Given the description of an element on the screen output the (x, y) to click on. 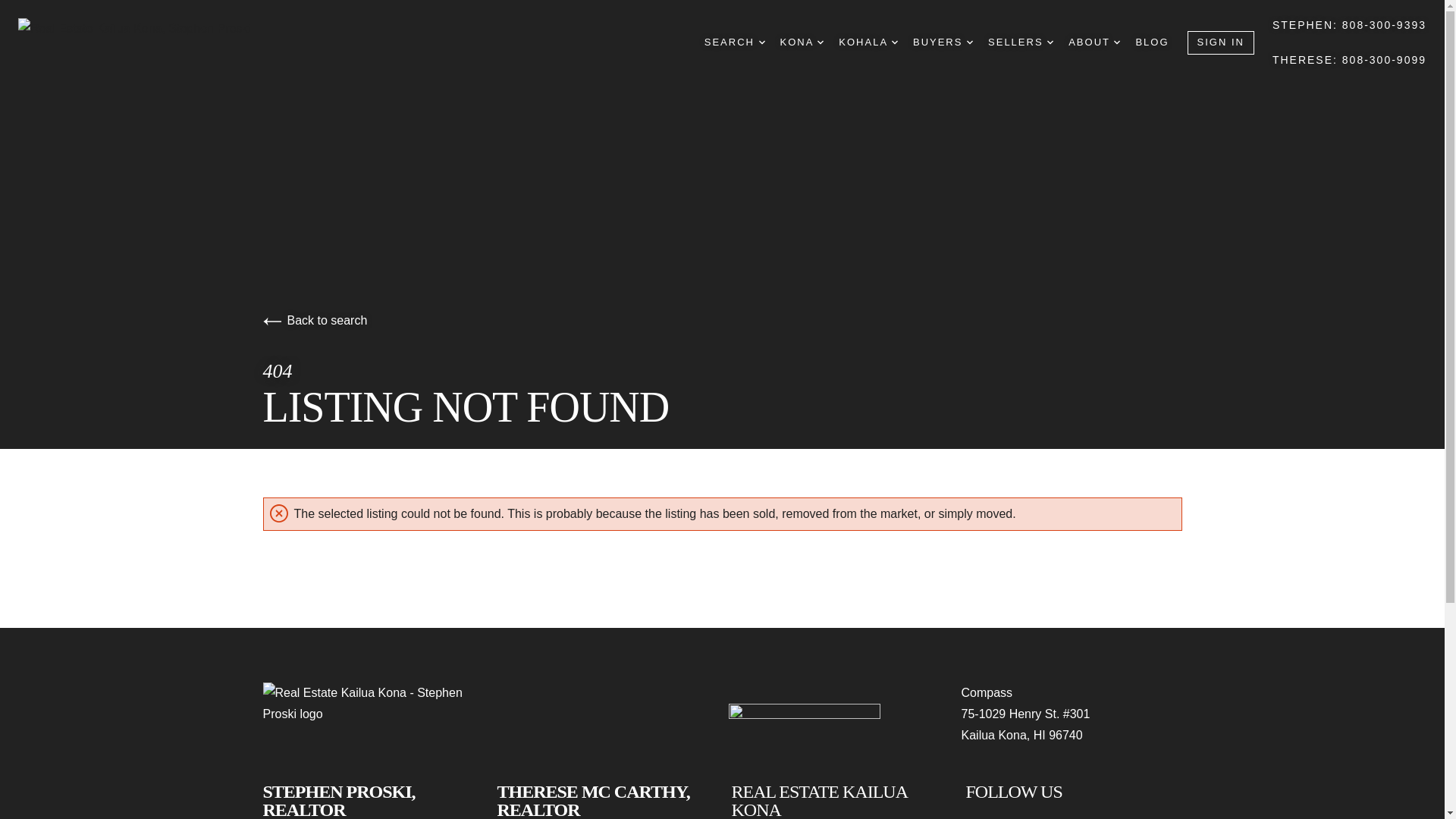
DROPDOWN ARROW (761, 42)
KONA DROPDOWN ARROW (802, 42)
BUYERS DROPDOWN ARROW (942, 42)
KOHALA DROPDOWN ARROW (868, 42)
DROPDOWN ARROW (894, 42)
DROPDOWN ARROW (820, 42)
SEARCH DROPDOWN ARROW (734, 42)
DROPDOWN ARROW (969, 42)
DROPDOWN ARROW (1049, 42)
DROPDOWN ARROW (1116, 42)
